Given the description of an element on the screen output the (x, y) to click on. 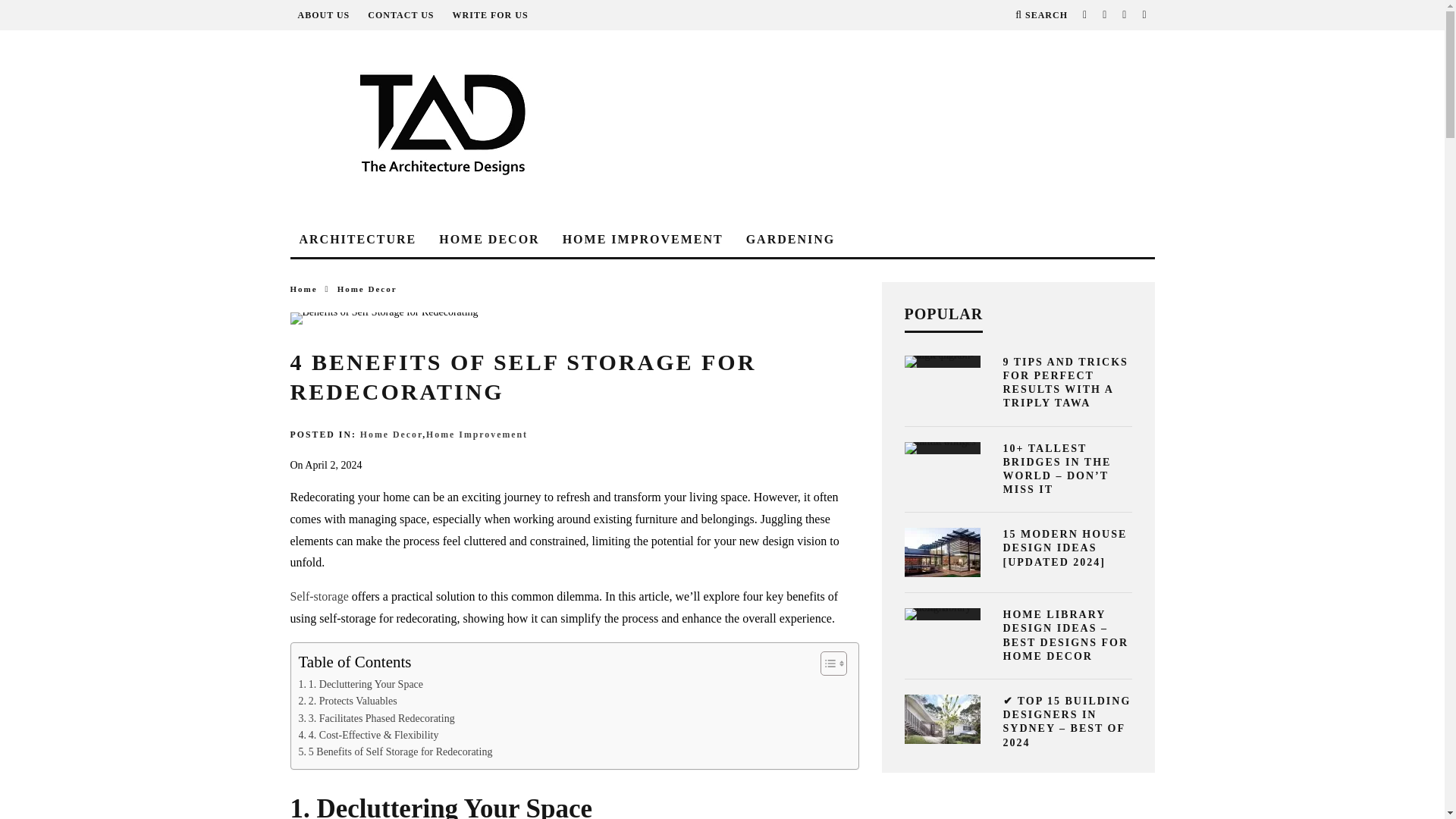
CONTACT US (400, 15)
Log In (722, 428)
1. Decluttering Your Space (360, 684)
2. Protects Valuables (347, 701)
Search (1040, 15)
3. Facilitates Phased Redecorating (376, 718)
ABOUT US (323, 15)
SEARCH (1040, 15)
ARCHITECTURE (357, 239)
WRITE FOR US (490, 15)
5 Benefits of Self Storage for Redecorating (395, 751)
View all posts in Home Decor (367, 288)
